Given the description of an element on the screen output the (x, y) to click on. 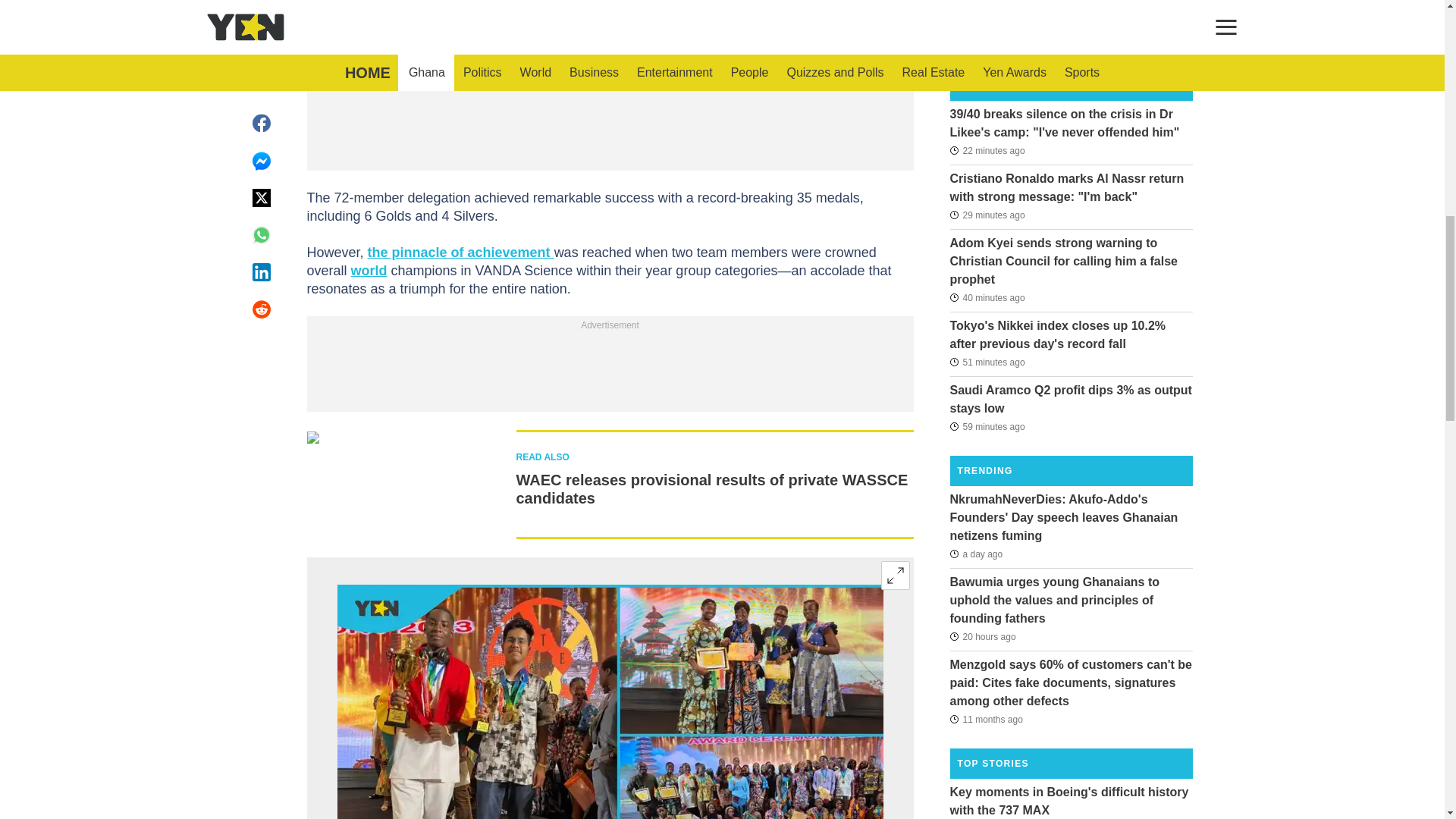
Ghana at Steam Ahead 2023 (609, 701)
2024-08-06T06:48:22Z (987, 215)
Expand image (895, 575)
2024-08-06T06:37:38Z (987, 297)
2024-08-06T06:26:03Z (987, 361)
2024-08-04T08:32:12Z (976, 553)
2024-08-05T10:48:02Z (981, 637)
2024-08-06T06:18:03Z (987, 425)
2023-08-11T10:47:03Z (985, 719)
2024-08-06T06:55:52Z (987, 149)
